Given the description of an element on the screen output the (x, y) to click on. 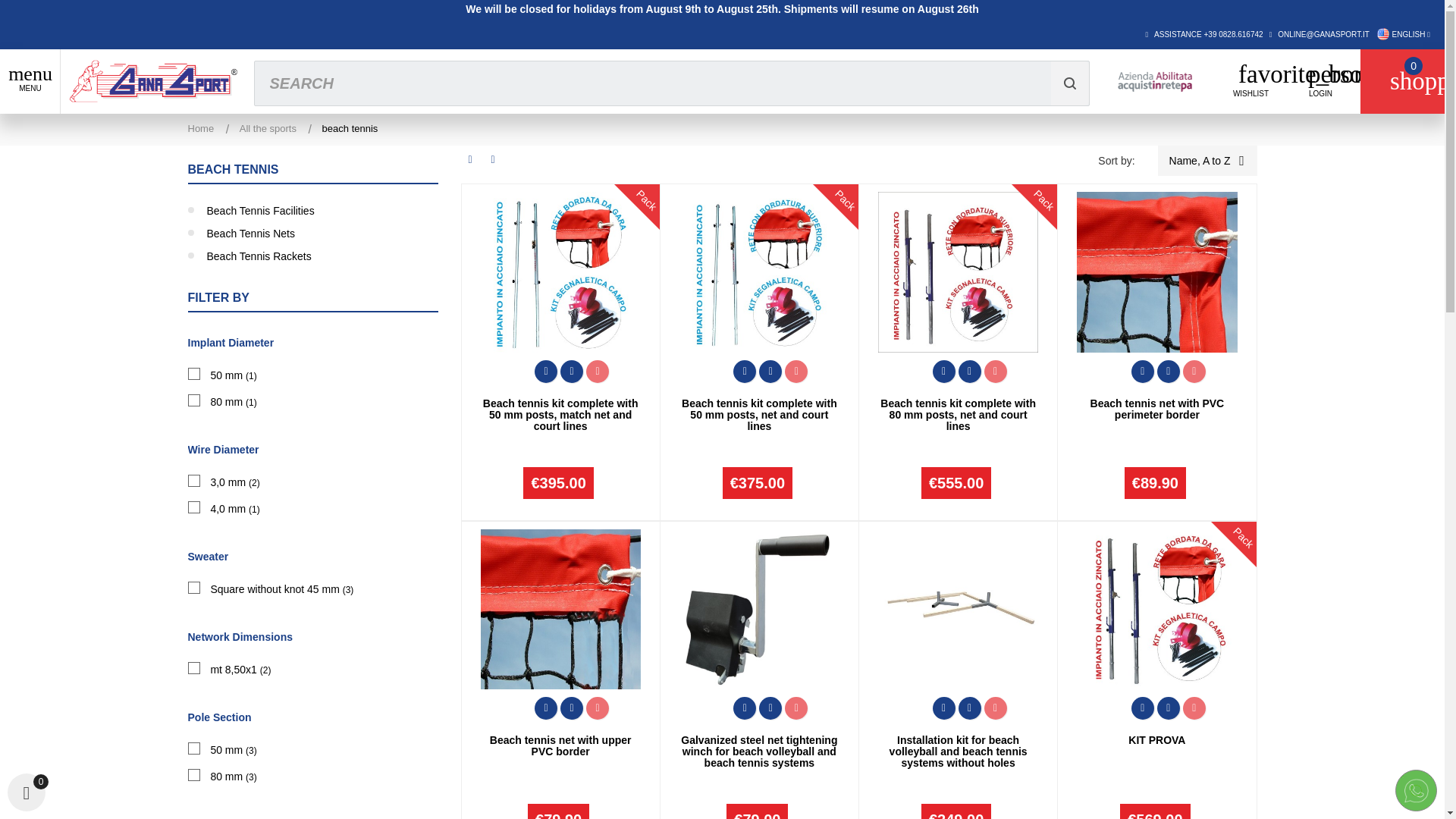
Quick view (1142, 370)
Quick view (545, 707)
Grid (470, 158)
ENGLISH (1403, 34)
Quick view (944, 370)
List (492, 158)
Quick view (545, 370)
Language (1403, 34)
Quick view (744, 370)
